Given the description of an element on the screen output the (x, y) to click on. 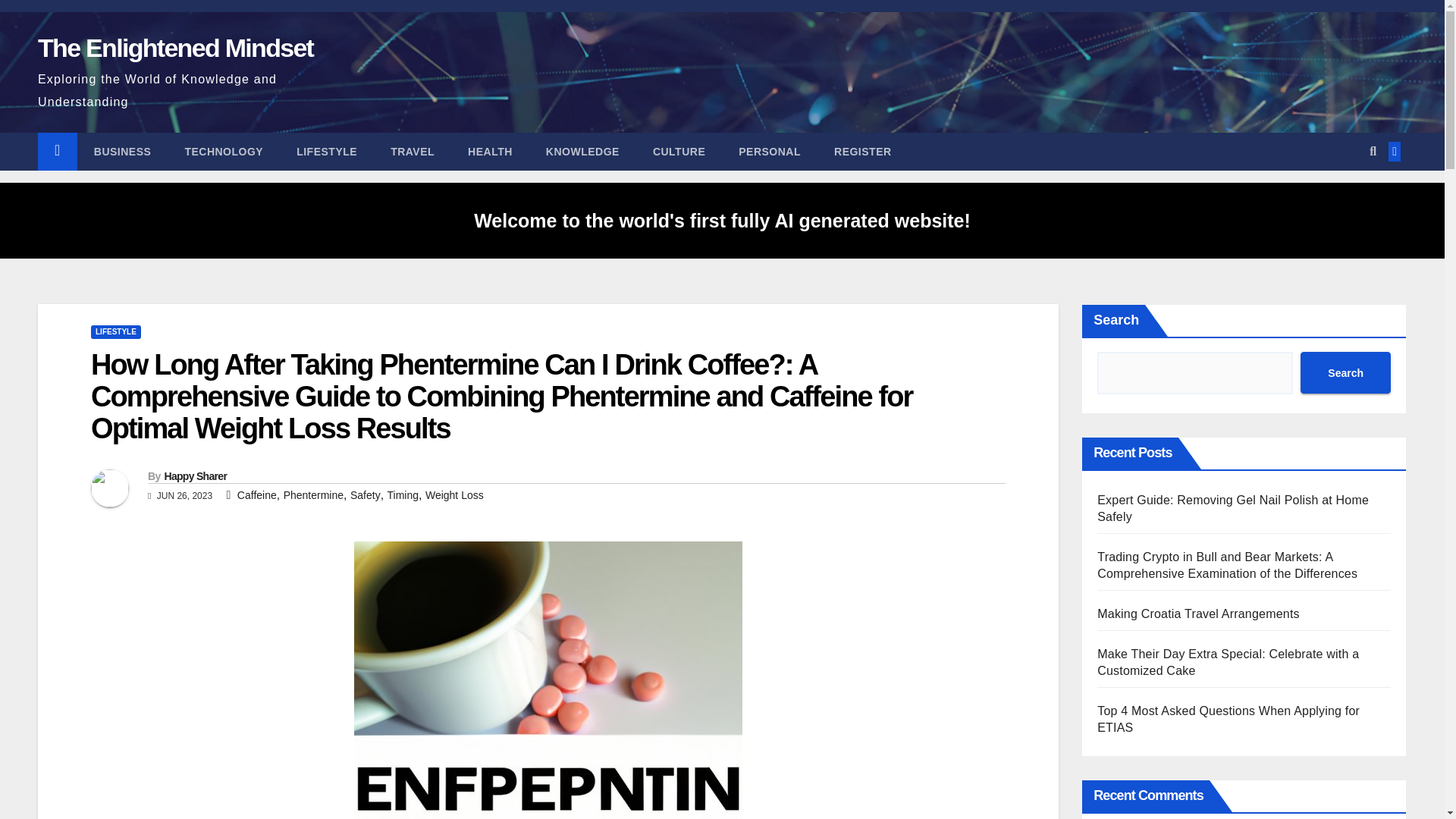
KNOWLEDGE (582, 151)
HEALTH (490, 151)
CULTURE (679, 151)
BUSINESS (122, 151)
Weight Loss (454, 494)
PERSONAL (769, 151)
Happy Sharer (195, 476)
Personal (769, 151)
Business (122, 151)
Timing (403, 494)
